Given the description of an element on the screen output the (x, y) to click on. 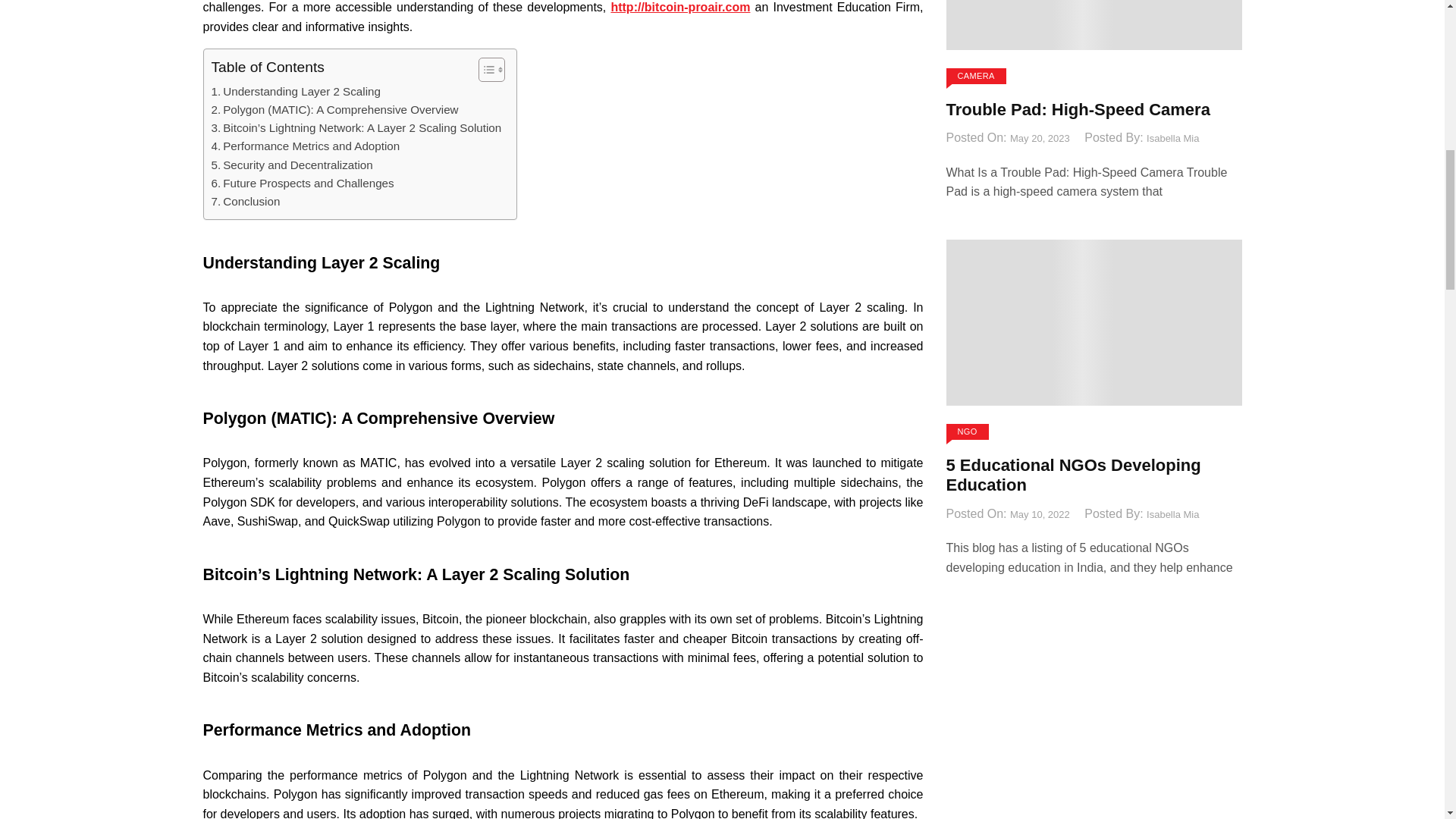
Conclusion (245, 201)
Security and Decentralization (291, 165)
Performance Metrics and Adoption (304, 146)
Understanding Layer 2 Scaling (295, 90)
Future Prospects and Challenges (302, 183)
